Given the description of an element on the screen output the (x, y) to click on. 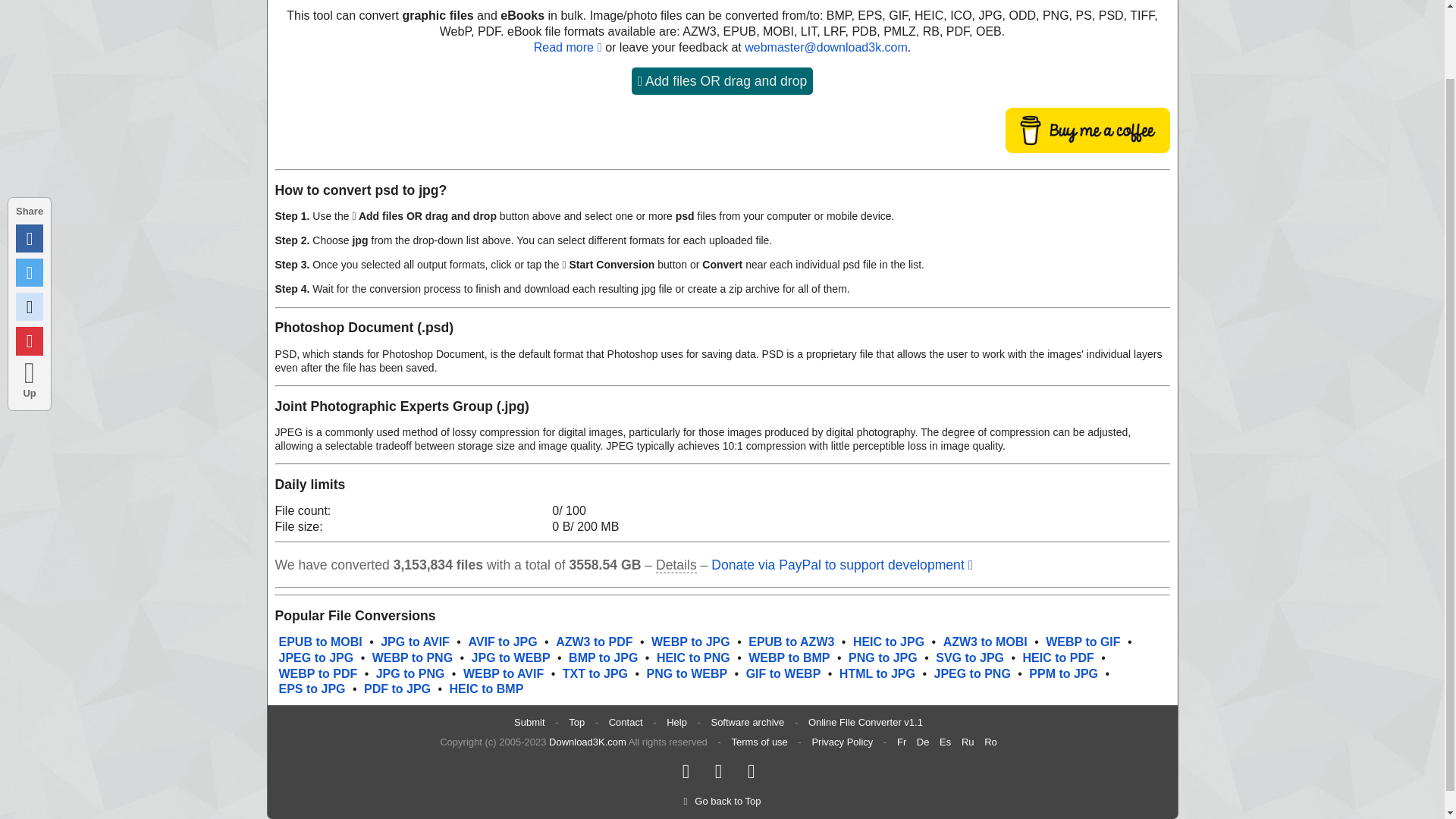
HEIC to PNG (693, 657)
Read more (568, 47)
AZW3 to MOBI (985, 641)
GIF to WEBP (783, 673)
WEBP to PNG (412, 657)
HEIC to BMP (486, 688)
JPG to WEBP (510, 657)
EPUB to AZW3 (791, 641)
Share on Facebook (29, 160)
BMP to JPG (603, 657)
